Given the description of an element on the screen output the (x, y) to click on. 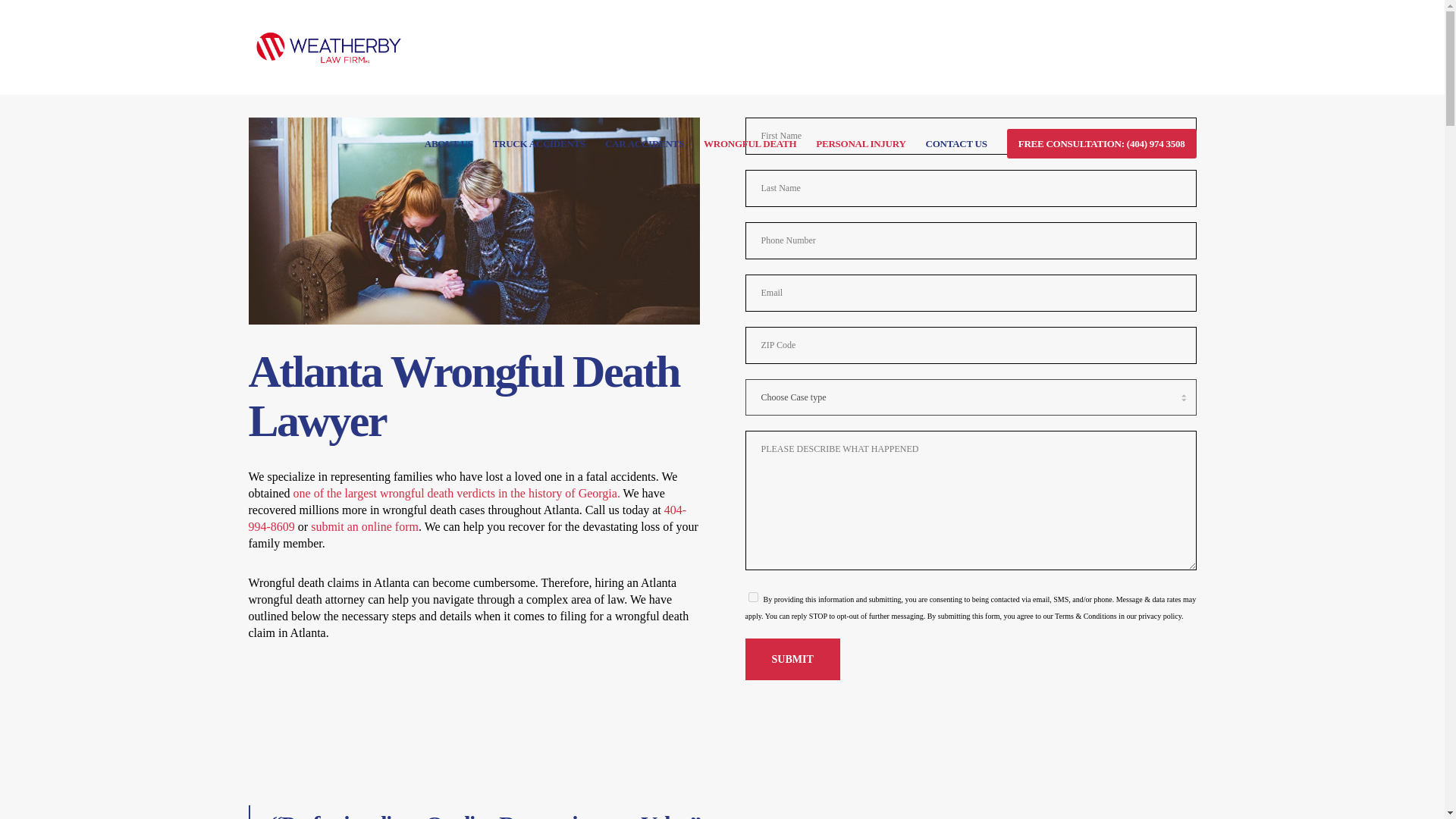
PERSONAL INJURY (850, 142)
404-994-8609 (467, 518)
WRONGFUL DEATH (740, 142)
TRUCK ACCIDENTS (529, 142)
Monica Rogers Testimonial (964, 812)
Submit (792, 659)
submit an online form (365, 526)
CAR ACCIDENTS (634, 142)
